Given the description of an element on the screen output the (x, y) to click on. 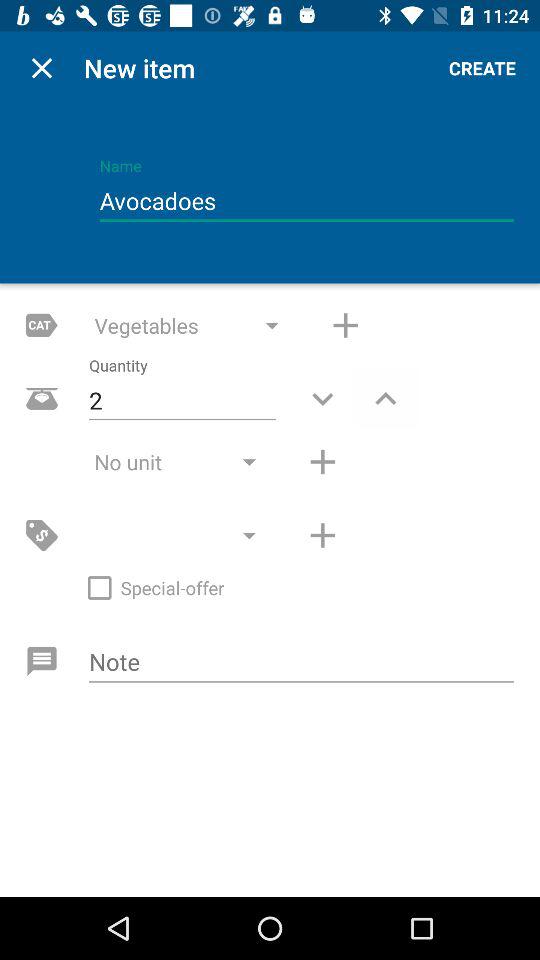
enter note (301, 663)
